Given the description of an element on the screen output the (x, y) to click on. 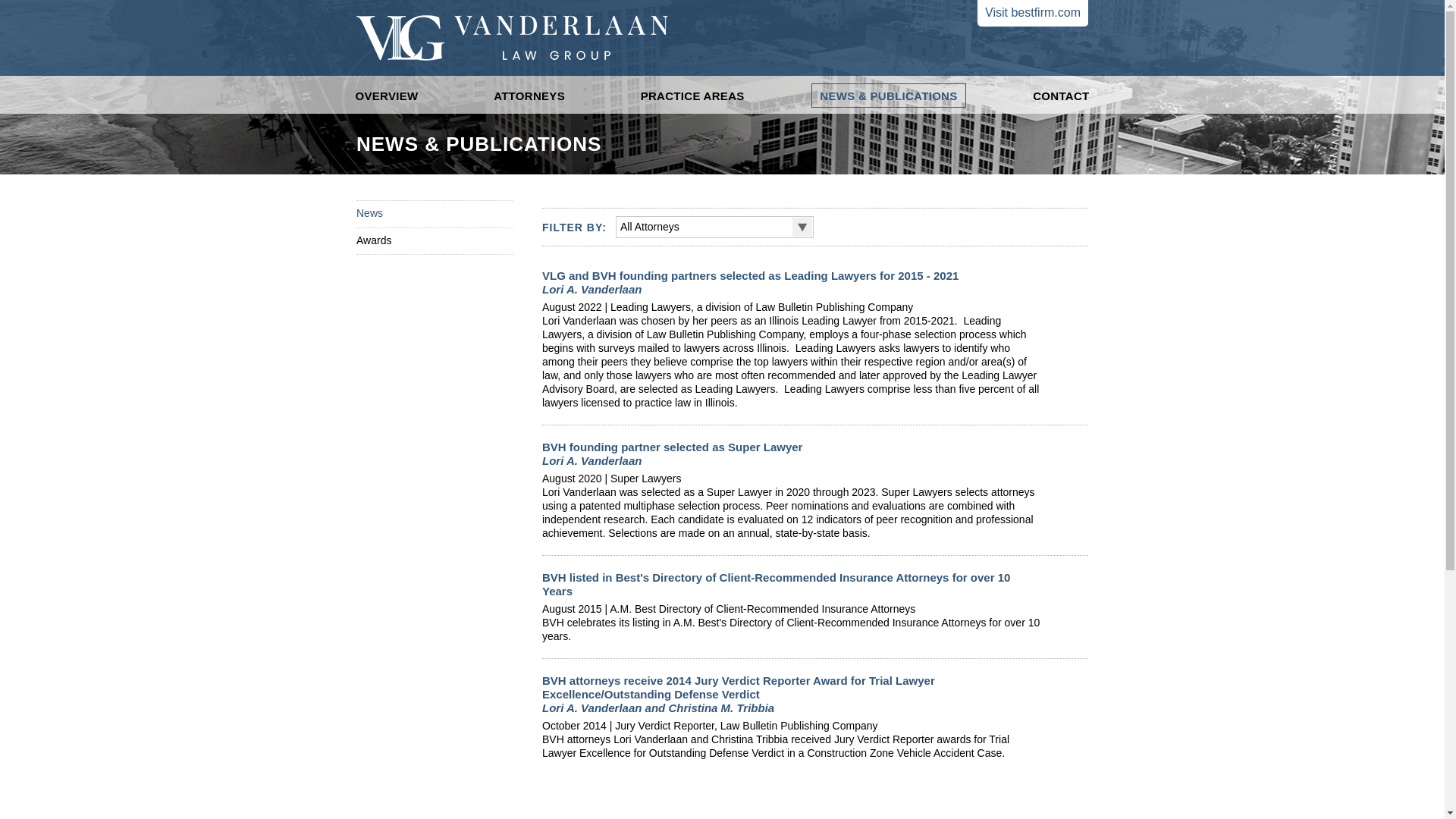
ATTORNEYS (528, 95)
OVERVIEW (386, 95)
PRACTICE AREAS (691, 95)
CONTACT (1061, 95)
Visit bestfirm.com (1031, 13)
News (369, 213)
